Given the description of an element on the screen output the (x, y) to click on. 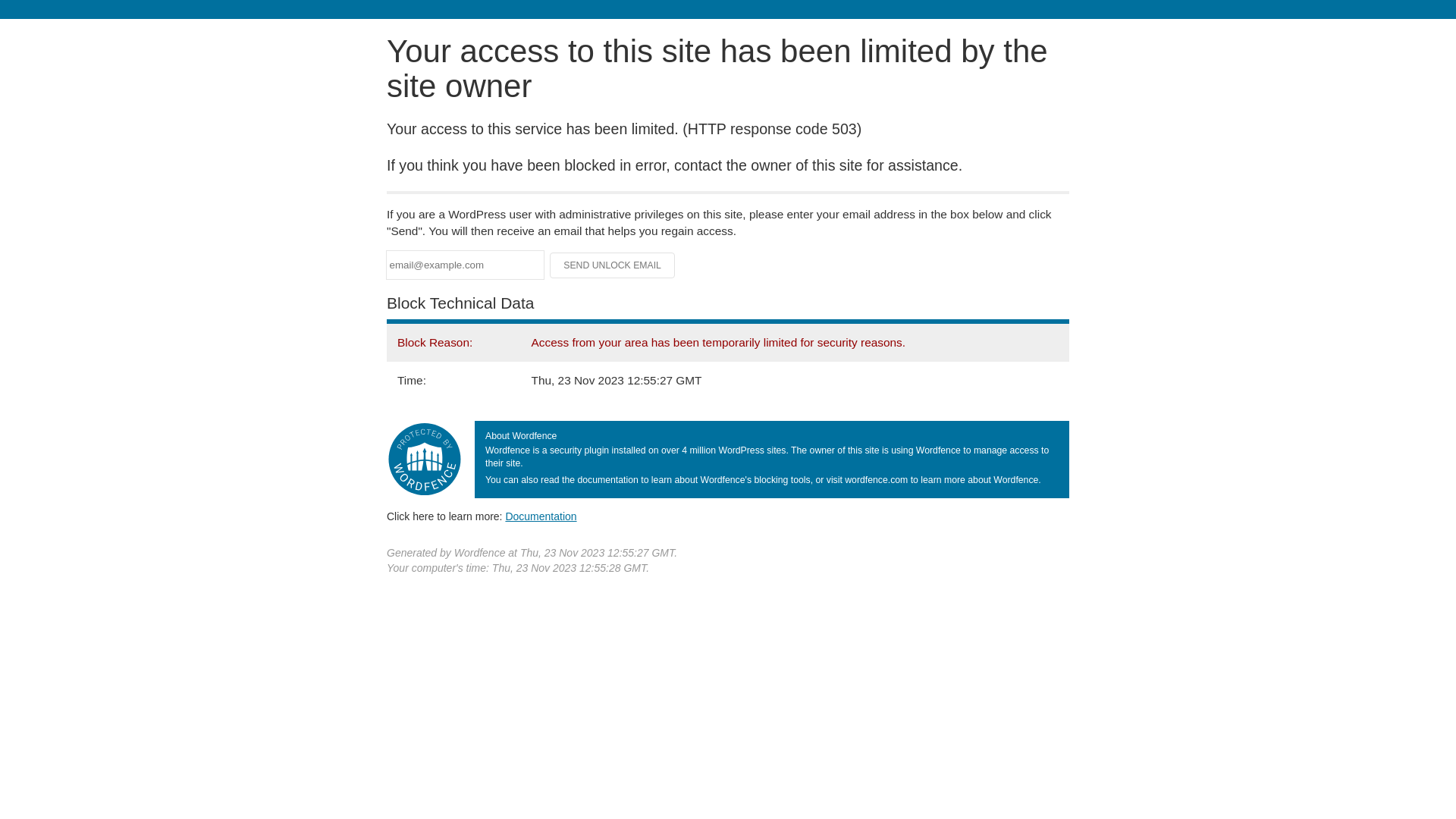
Send Unlock Email Element type: text (612, 265)
Documentation Element type: text (540, 516)
